Given the description of an element on the screen output the (x, y) to click on. 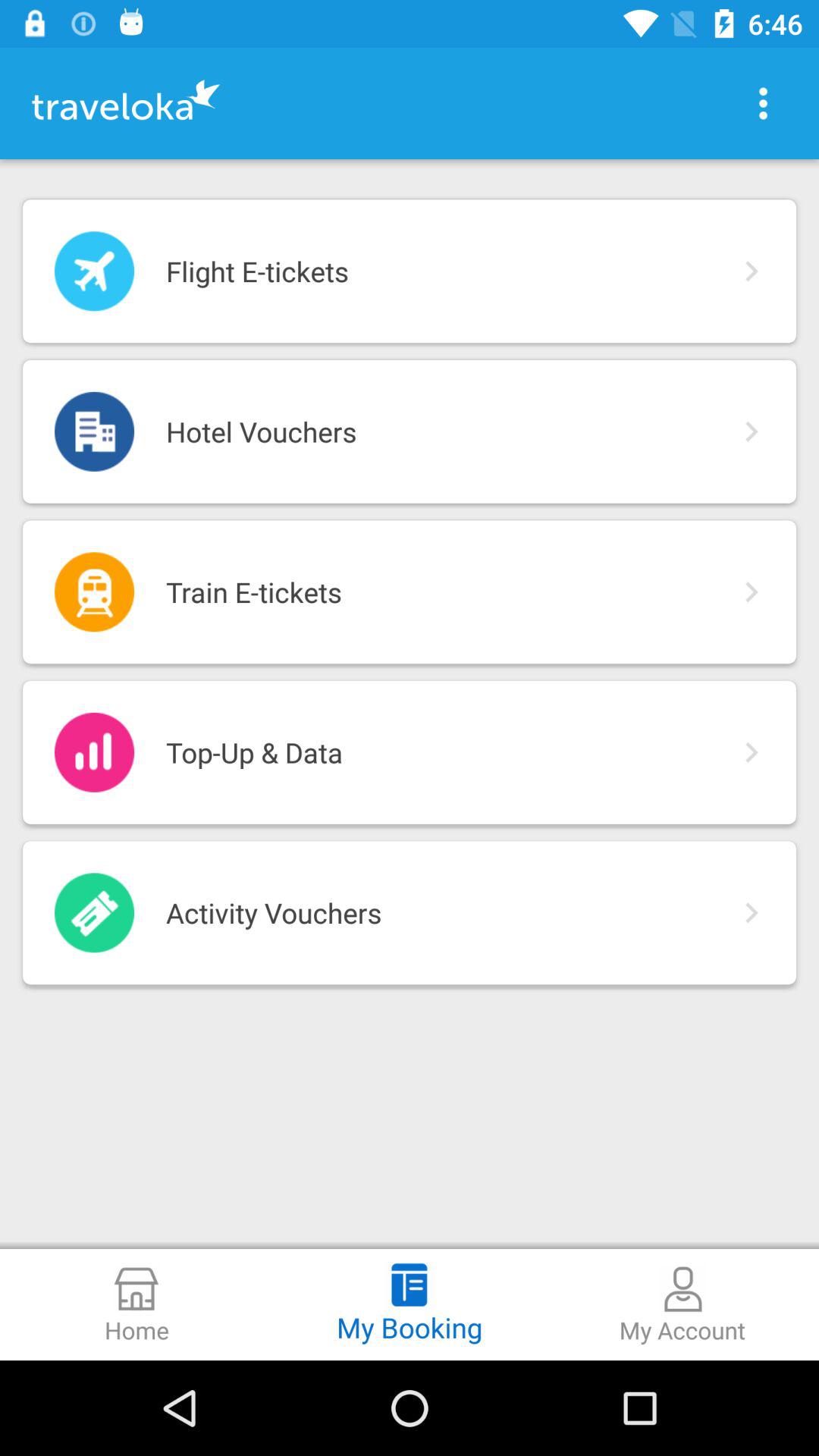
select more options (763, 103)
